Given the description of an element on the screen output the (x, y) to click on. 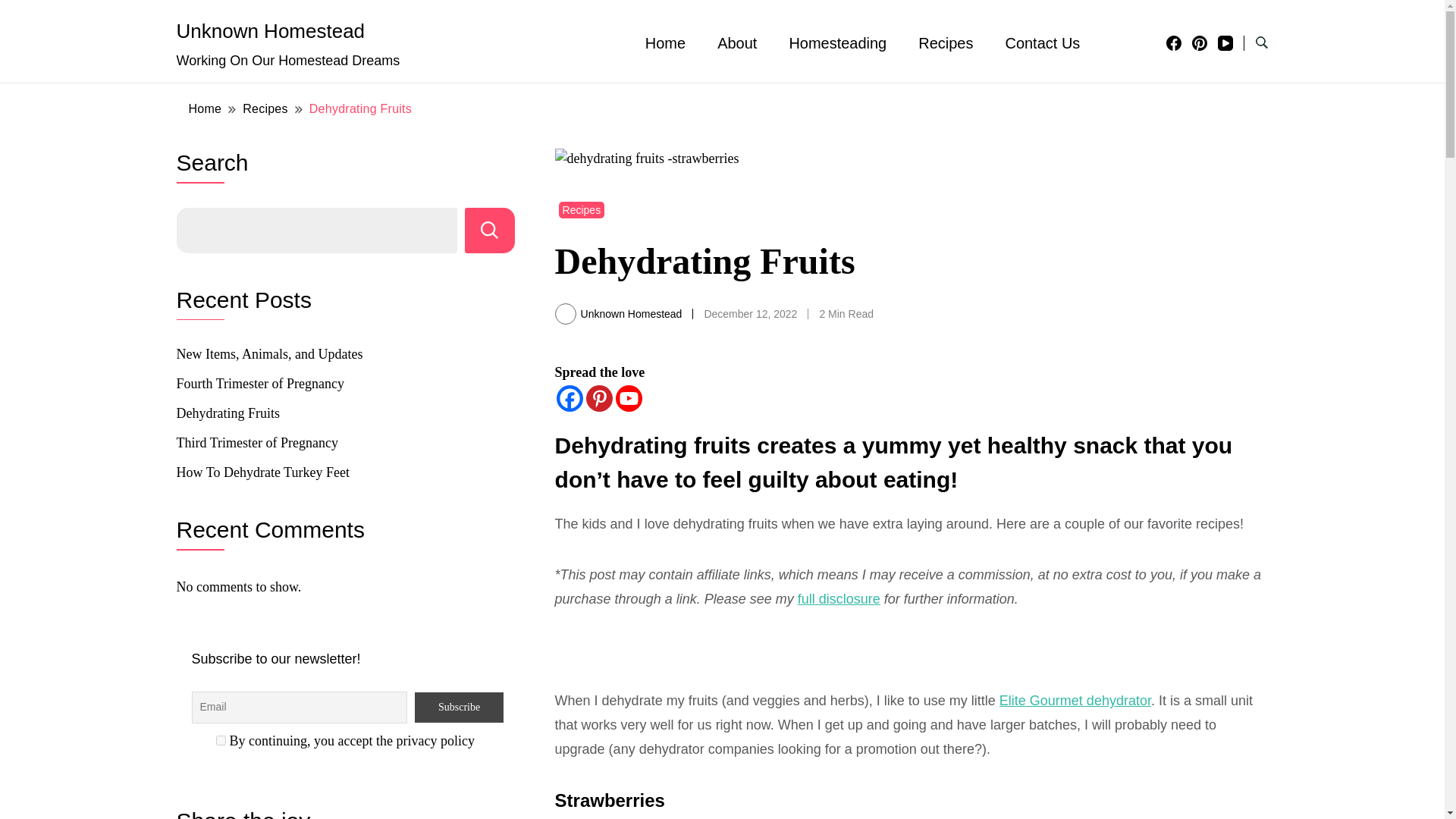
Pinterest (599, 397)
Recipes (582, 209)
Contact Us (1042, 43)
Home (204, 108)
Home (664, 43)
on (220, 740)
Youtube (628, 397)
Facebook (569, 397)
Recipes (945, 43)
Unknown Homestead (270, 30)
